Given the description of an element on the screen output the (x, y) to click on. 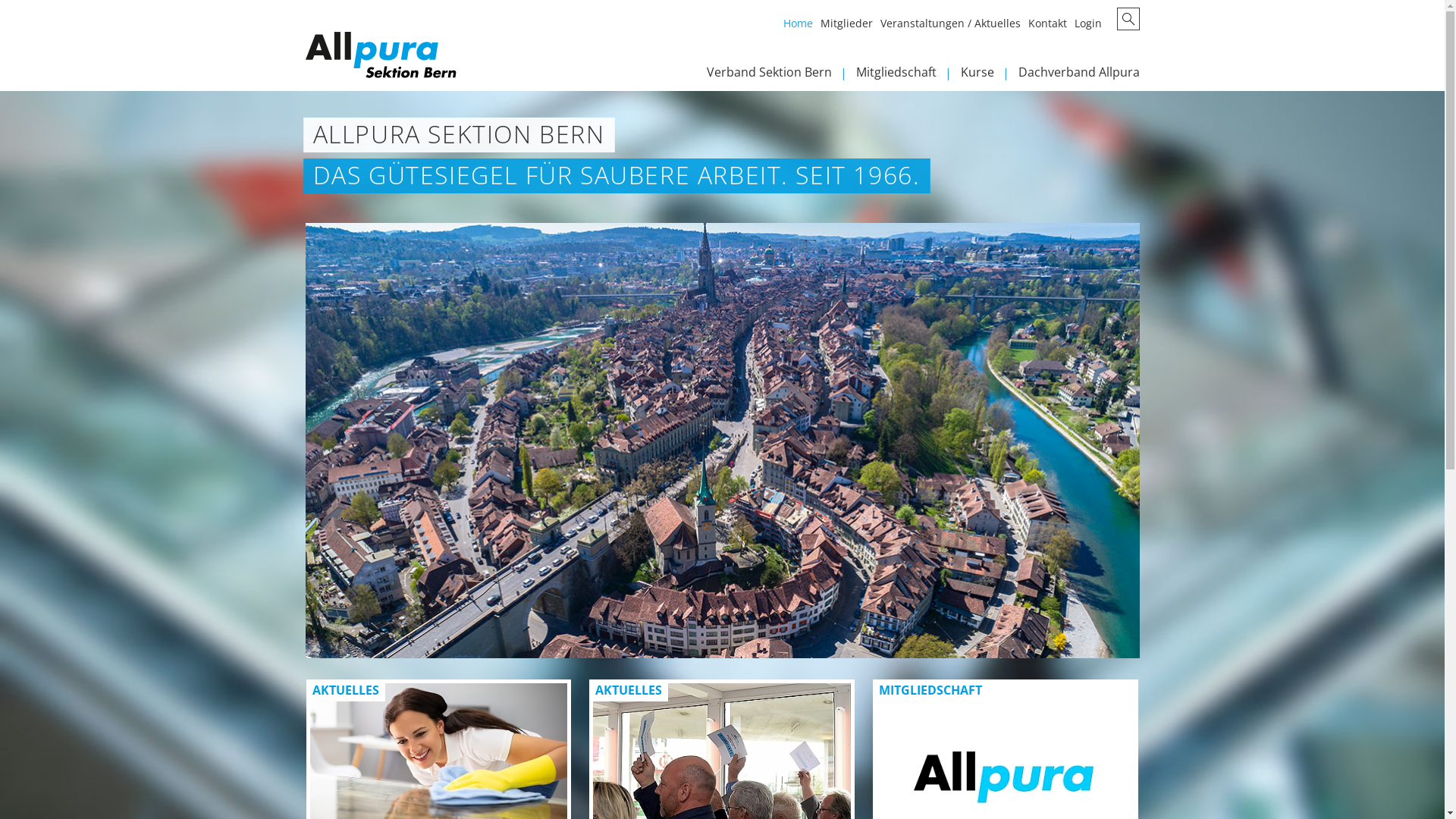
Kontakt Element type: text (1051, 26)
Dachverband Allpura Element type: text (1078, 75)
Home Element type: text (800, 26)
Kurse Element type: text (988, 75)
Login Element type: text (1090, 26)
Mitgliedschaft Element type: text (907, 75)
Verband Sektion Bern Element type: text (781, 75)
Mitglieder Element type: text (850, 26)
Veranstaltungen / Aktuelles Element type: text (953, 26)
